Given the description of an element on the screen output the (x, y) to click on. 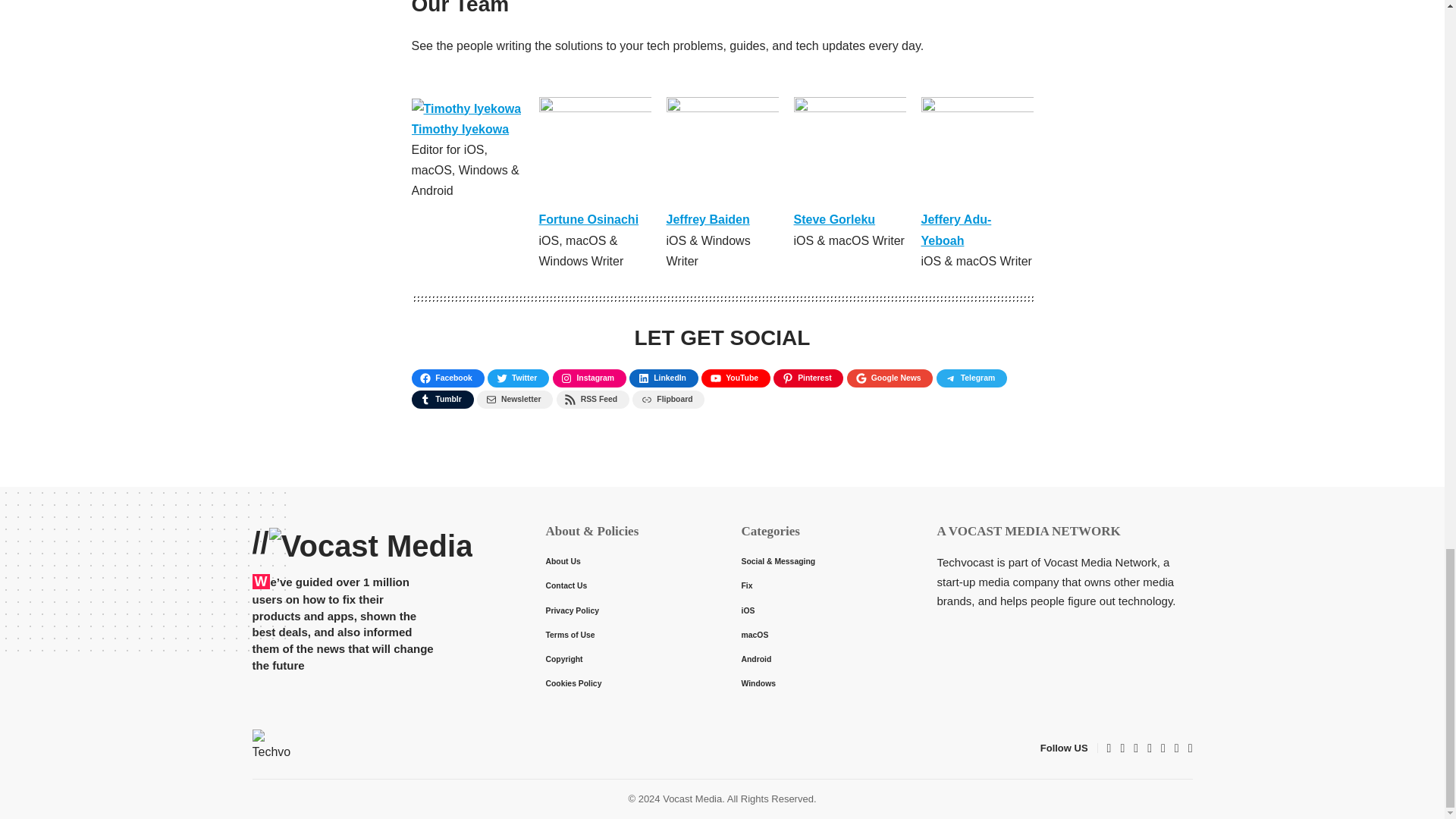
Fortune Osinachi (588, 219)
Techvocast (270, 748)
Timothy Iyekowa (459, 128)
